Given the description of an element on the screen output the (x, y) to click on. 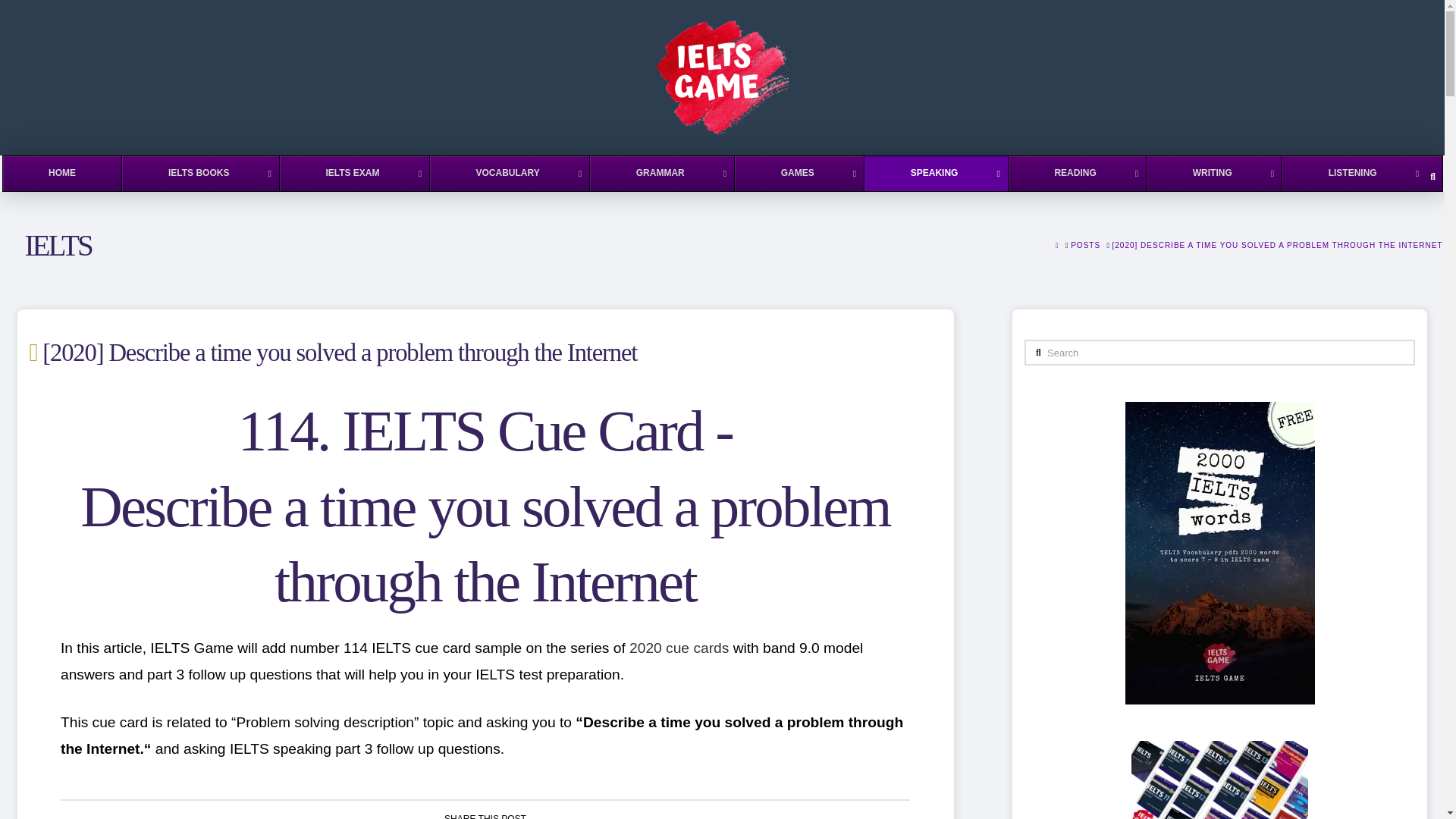
IELTS BOOKS (199, 173)
GAMES (798, 173)
IELTS EXAM (354, 173)
READING (1076, 173)
You Are Here (1277, 245)
SPEAKING (935, 173)
WRITING (1213, 173)
HOME (62, 173)
VOCABULARY (509, 173)
GRAMMAR (661, 173)
